Given the description of an element on the screen output the (x, y) to click on. 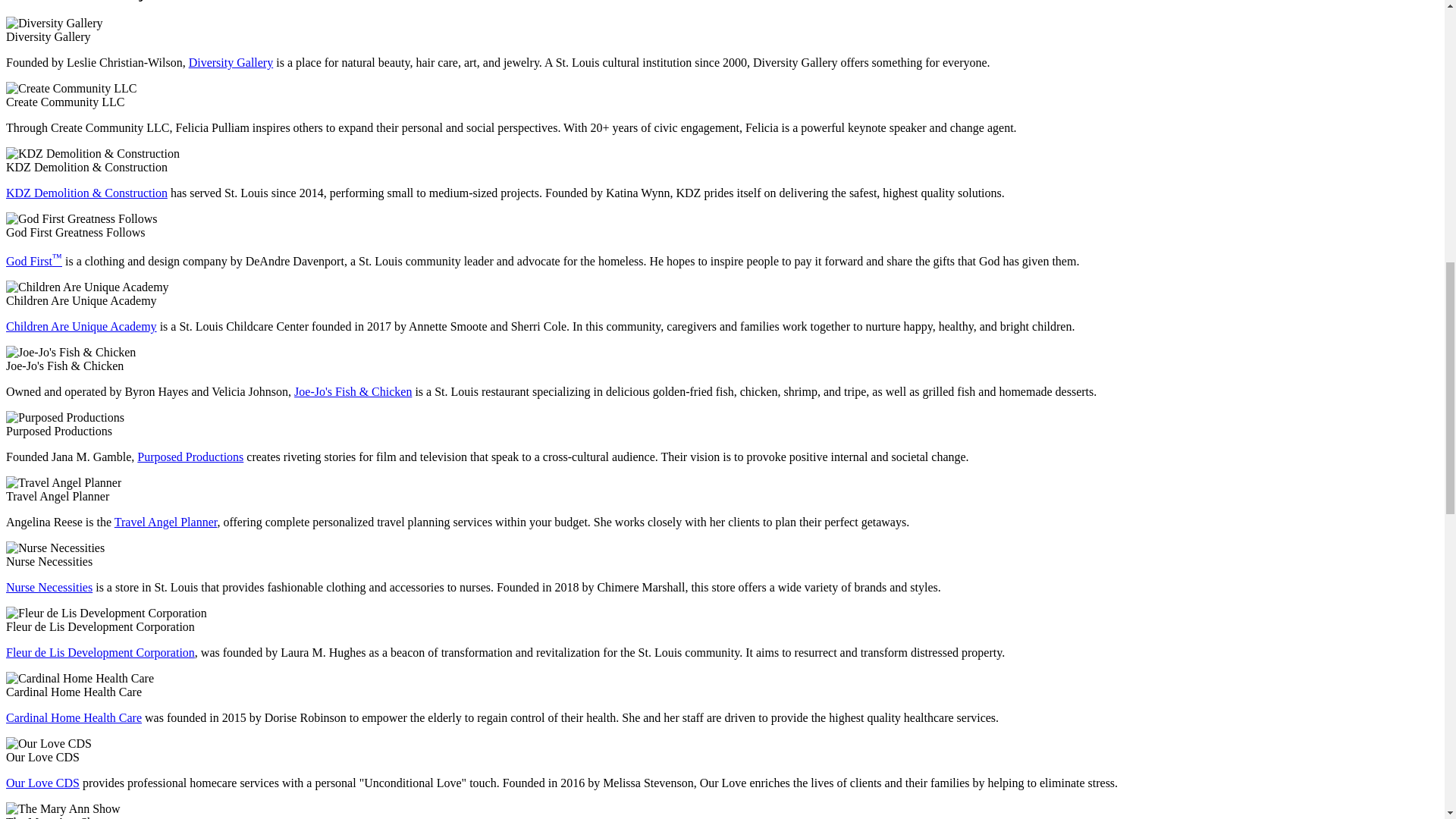
Travel Angel Planner (165, 521)
Cardinal Home Health Care (73, 717)
Our Love CDS (42, 782)
Diversity Gallery (231, 62)
Nurse Necessities (49, 586)
Purposed Productions (189, 456)
Children Are Unique Academy (81, 326)
Fleur de Lis Development Corporation (100, 652)
